Given the description of an element on the screen output the (x, y) to click on. 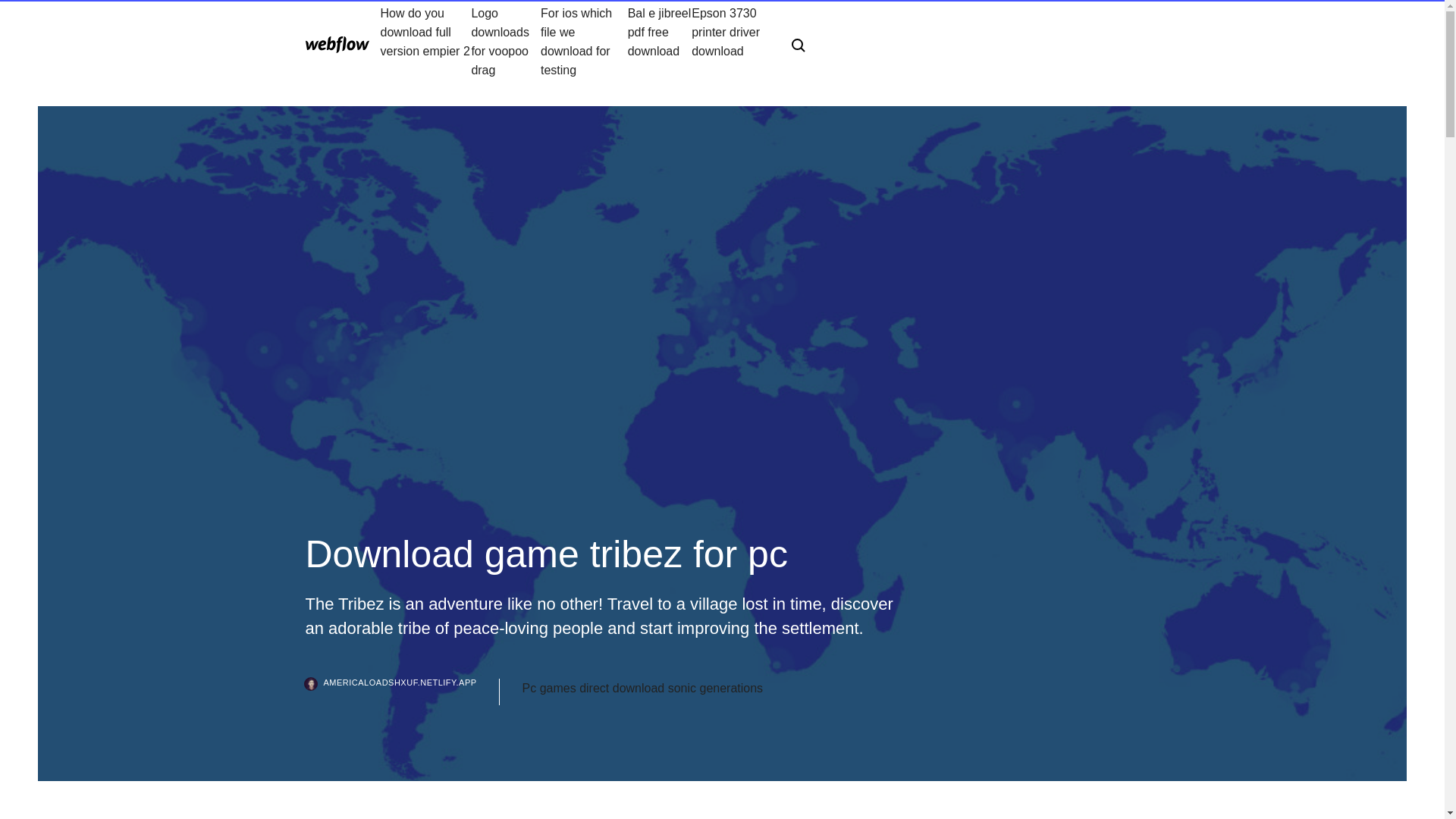
Pc games direct download sonic generations (642, 687)
Logo downloads for voopoo drag (505, 41)
For ios which file we download for testing (583, 41)
AMERICALOADSHXUF.NETLIFY.APP (401, 691)
Epson 3730 printer driver download (729, 41)
How do you download full version empier 2 (425, 41)
